Given the description of an element on the screen output the (x, y) to click on. 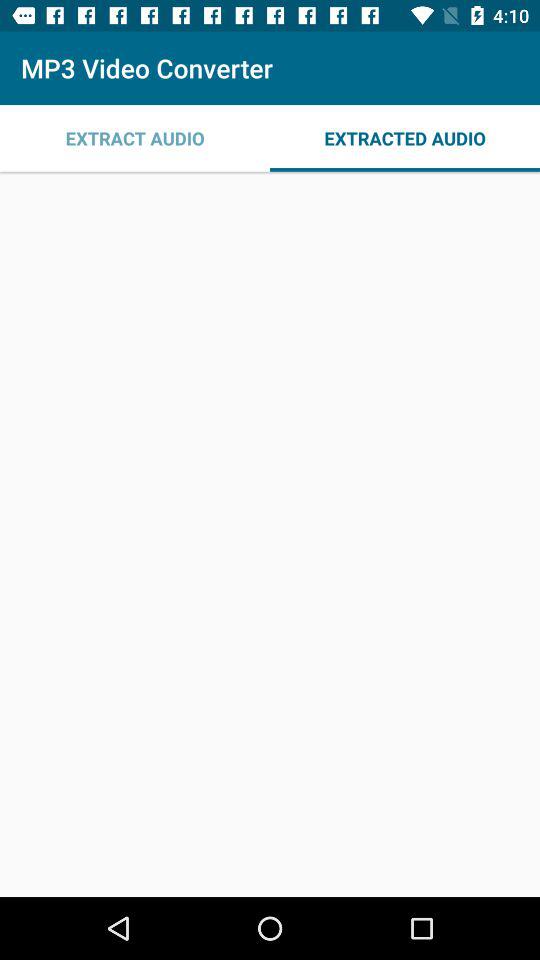
select extract audio app (135, 138)
